Given the description of an element on the screen output the (x, y) to click on. 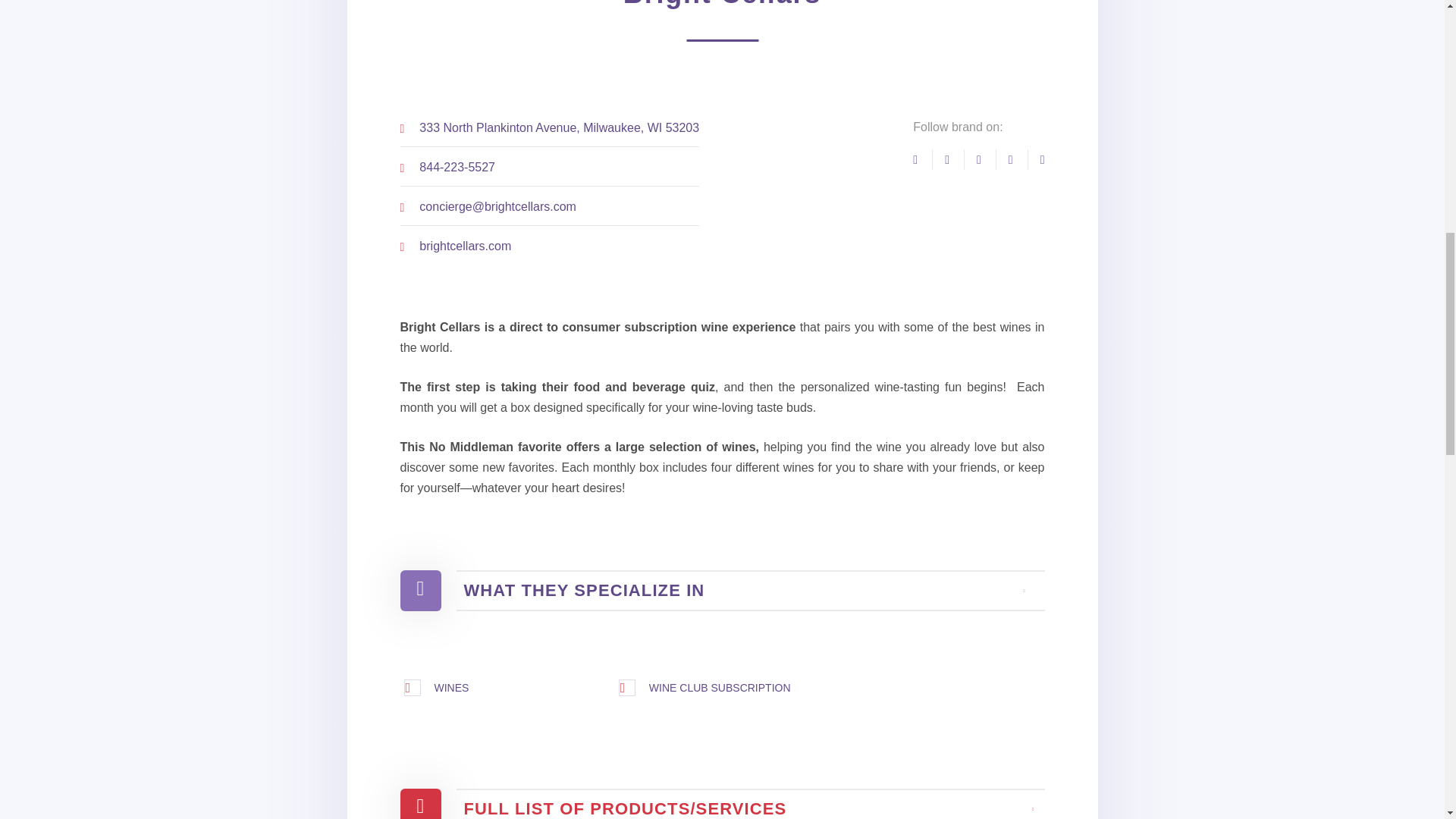
WHAT THEY SPECIALIZE IN (722, 590)
333 North Plankinton Avenue, Milwaukee, WI 53203 (558, 127)
844-223-5527 (457, 167)
WINES (450, 687)
WINE CLUB SUBSCRIPTION (719, 687)
brightcellars.com (465, 245)
